Given the description of an element on the screen output the (x, y) to click on. 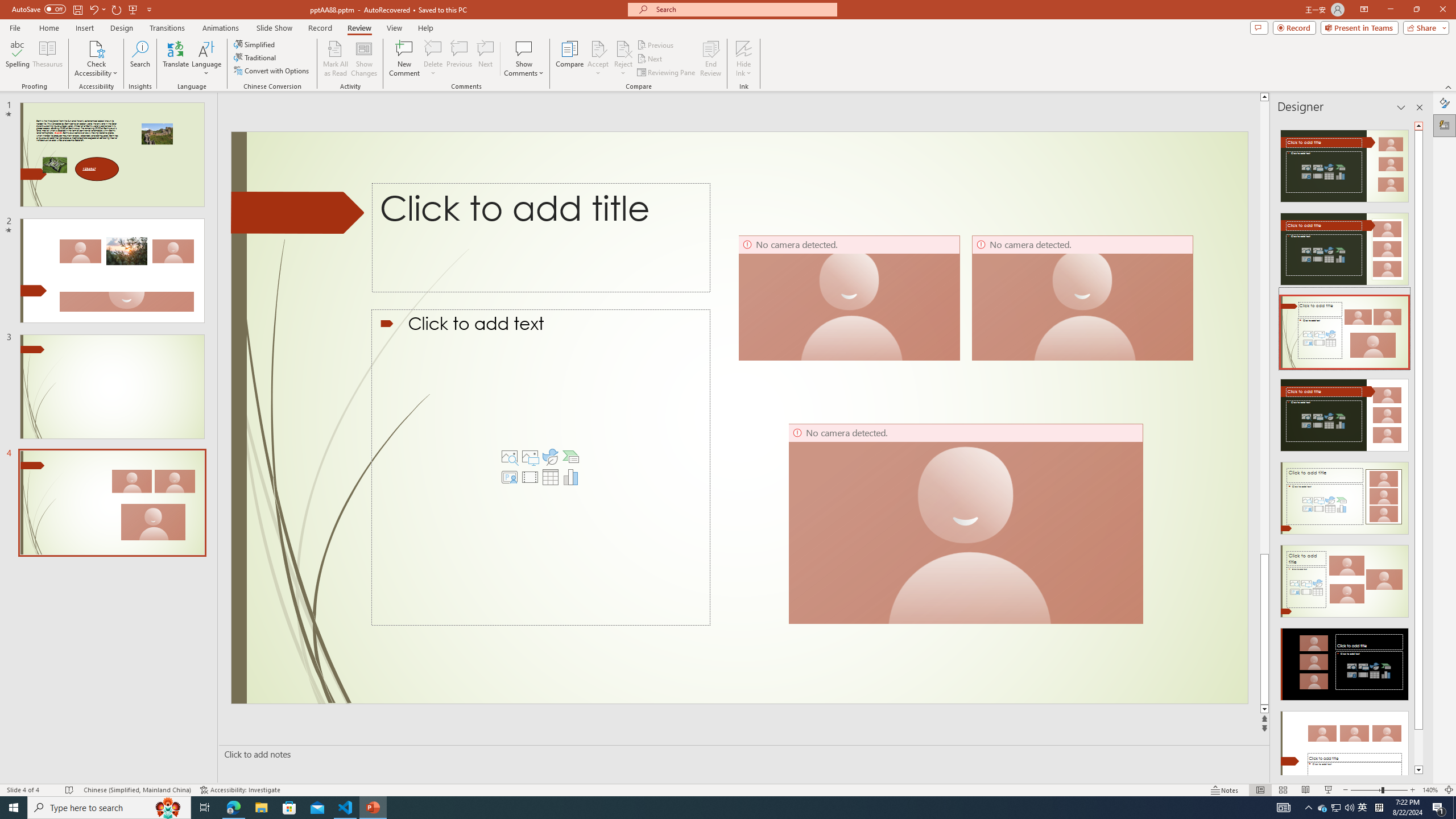
Camera 3, No camera detected. (1082, 298)
Hide Ink (743, 48)
Camera 4, No camera detected. (965, 523)
Page down (1418, 747)
Show Comments (524, 58)
